Given the description of an element on the screen output the (x, y) to click on. 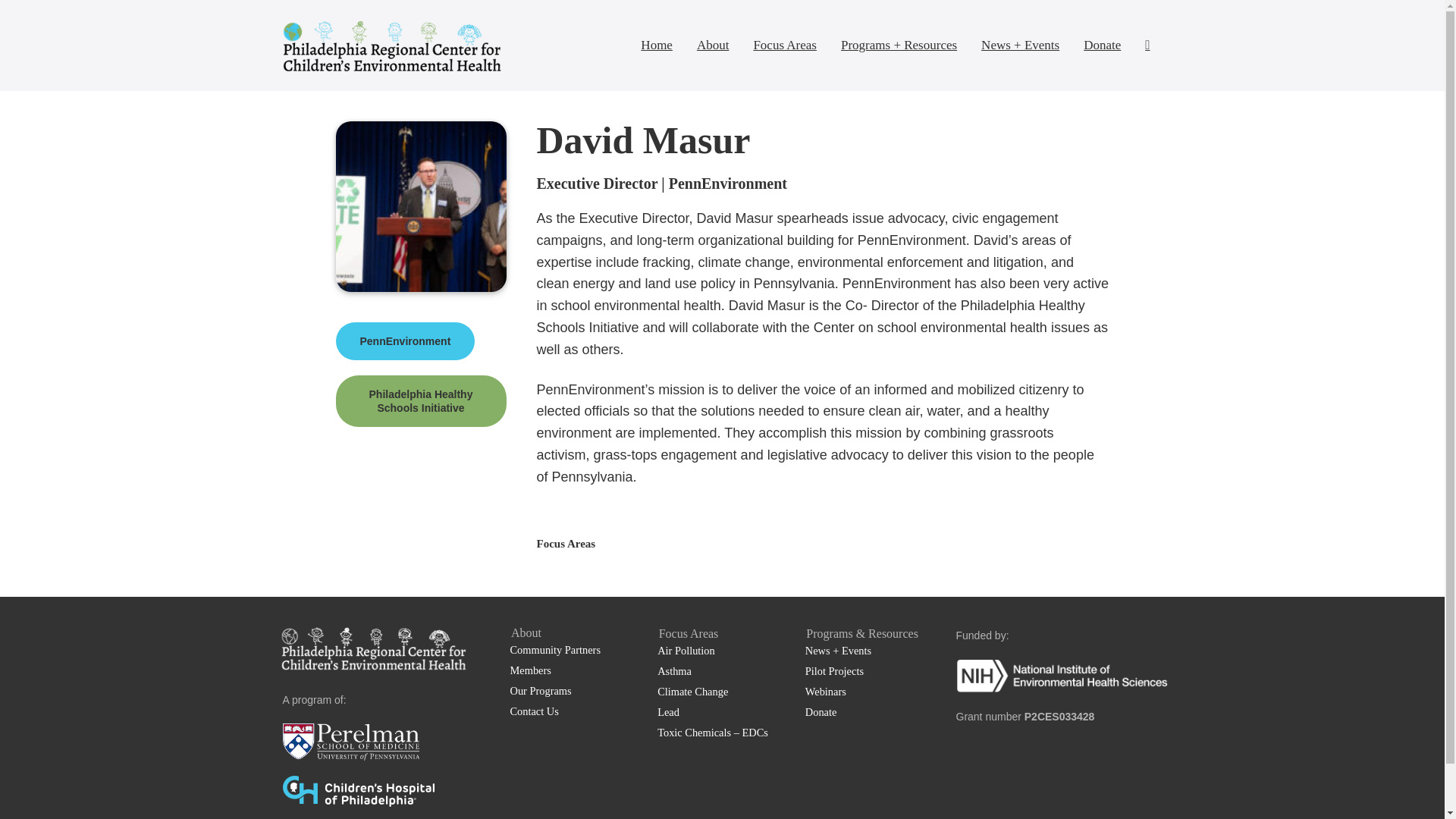
Children's Hospital of Philadelphia logo (357, 790)
Donate (1101, 45)
David Masur (419, 206)
Search Toggle (1146, 45)
Perelman School of Medicine logo (350, 741)
About (712, 45)
Home (656, 45)
Focus Areas (784, 45)
